Given the description of an element on the screen output the (x, y) to click on. 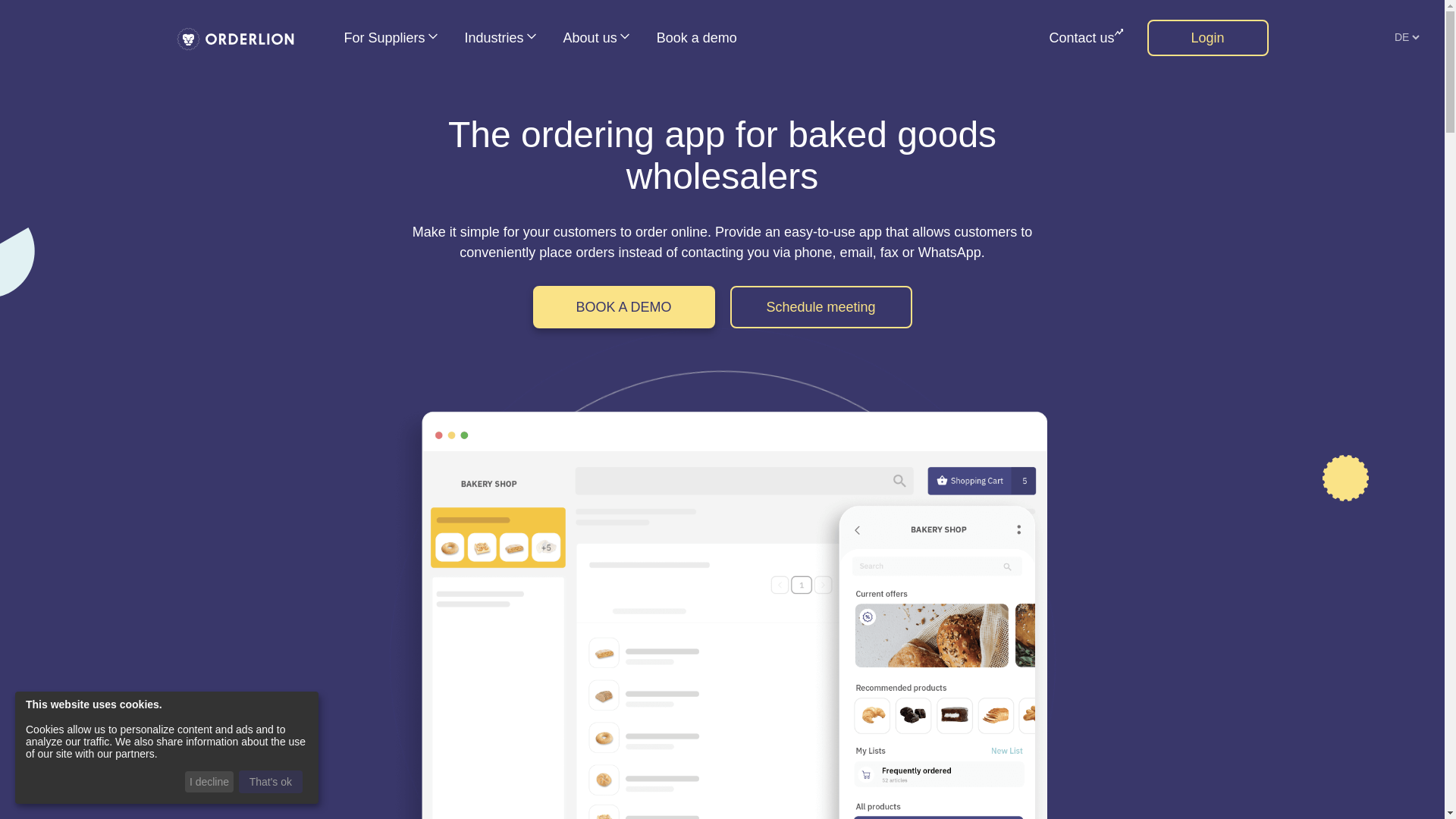
Schedule meeting (820, 306)
BOOK A DEMO (623, 306)
Contact us (1085, 38)
Login (1207, 37)
Book a demo (696, 38)
